Given the description of an element on the screen output the (x, y) to click on. 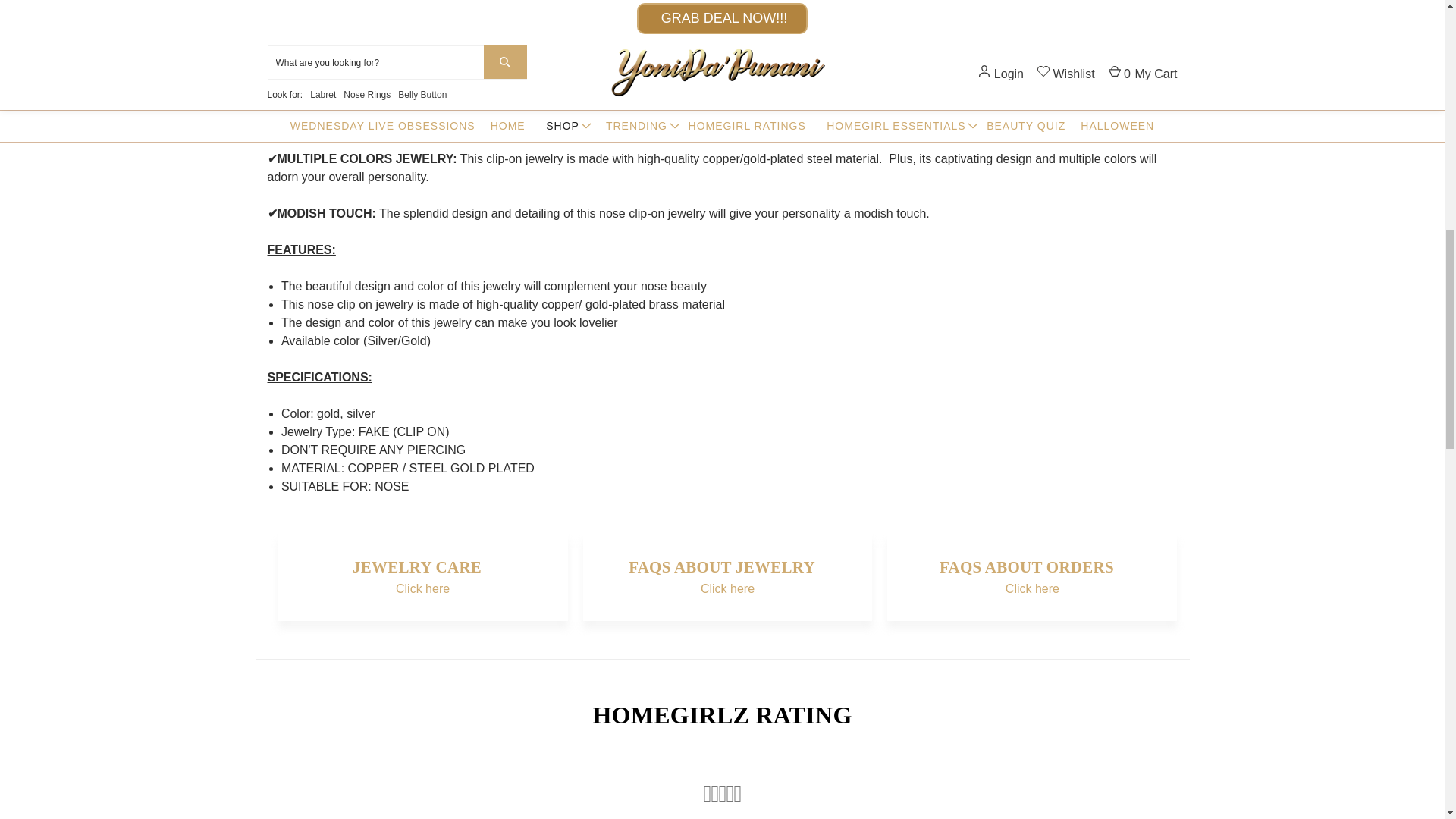
Facebook (831, 4)
